Given the description of an element on the screen output the (x, y) to click on. 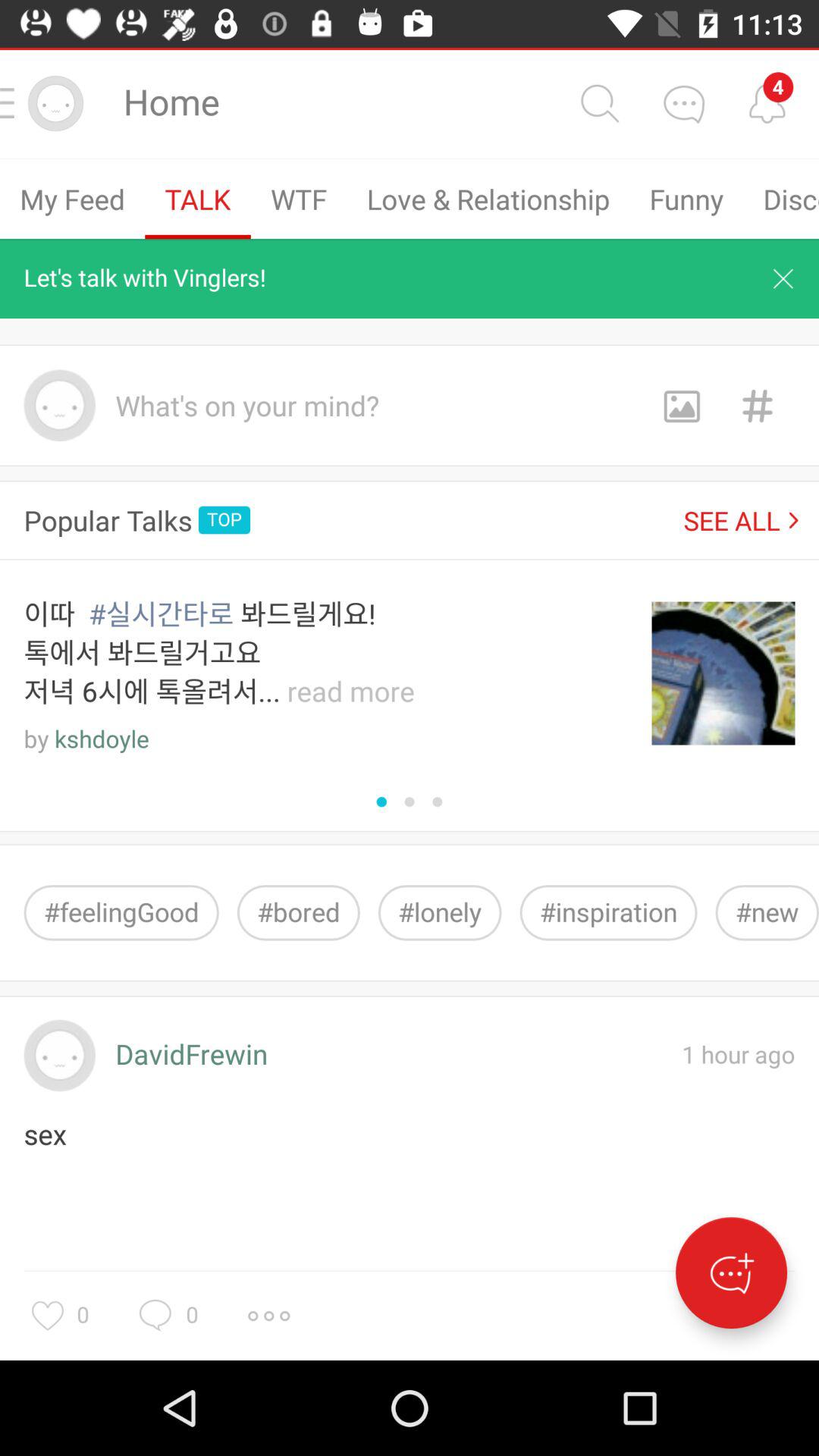
close (783, 278)
